Given the description of an element on the screen output the (x, y) to click on. 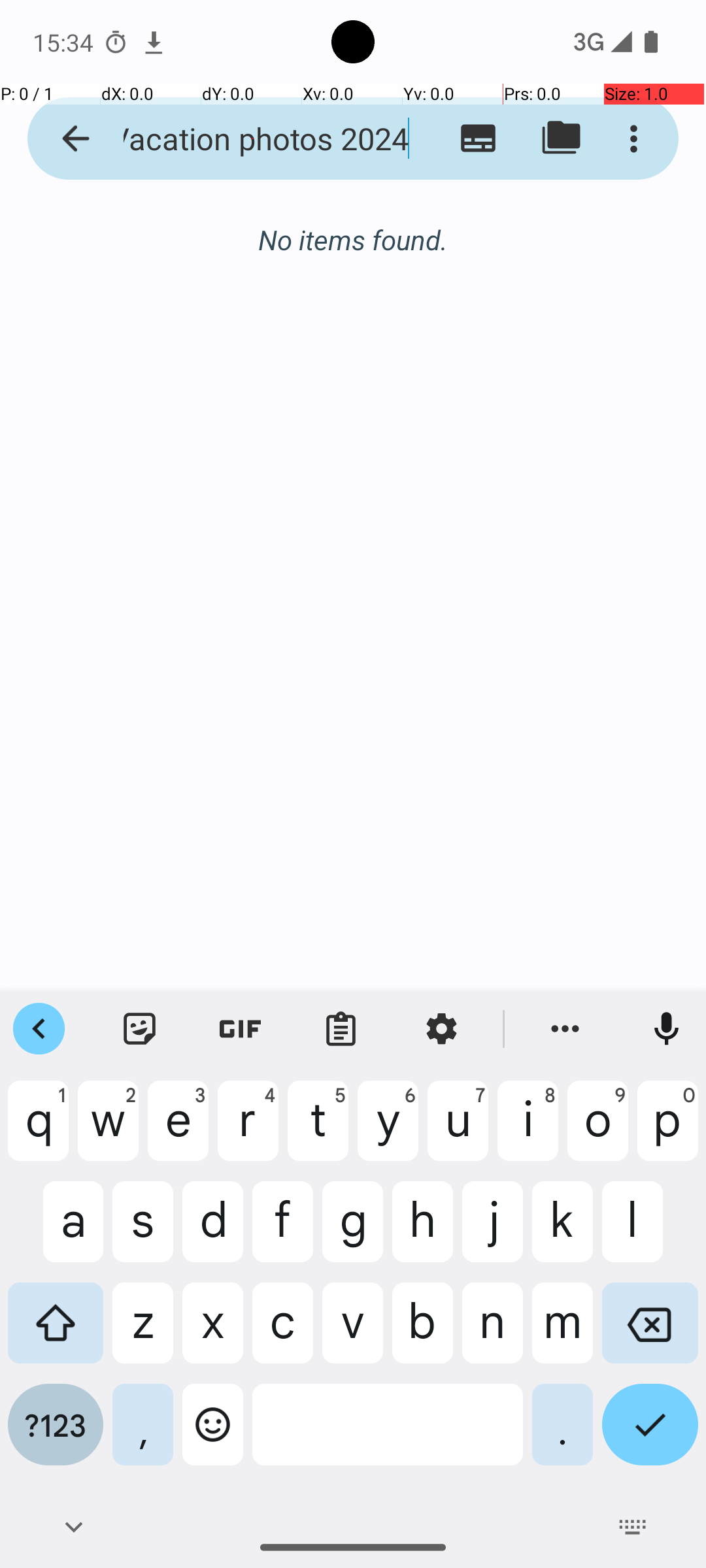
Vacation photos 2024 Element type: android.widget.EditText (252, 138)
Switch to folder view Element type: android.widget.Button (560, 138)
